Given the description of an element on the screen output the (x, y) to click on. 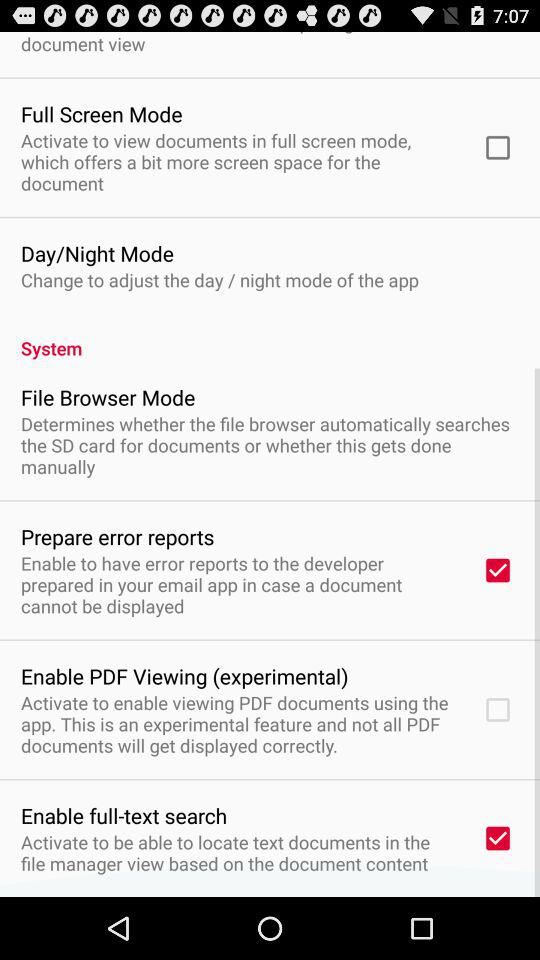
press icon above the system (219, 279)
